Given the description of an element on the screen output the (x, y) to click on. 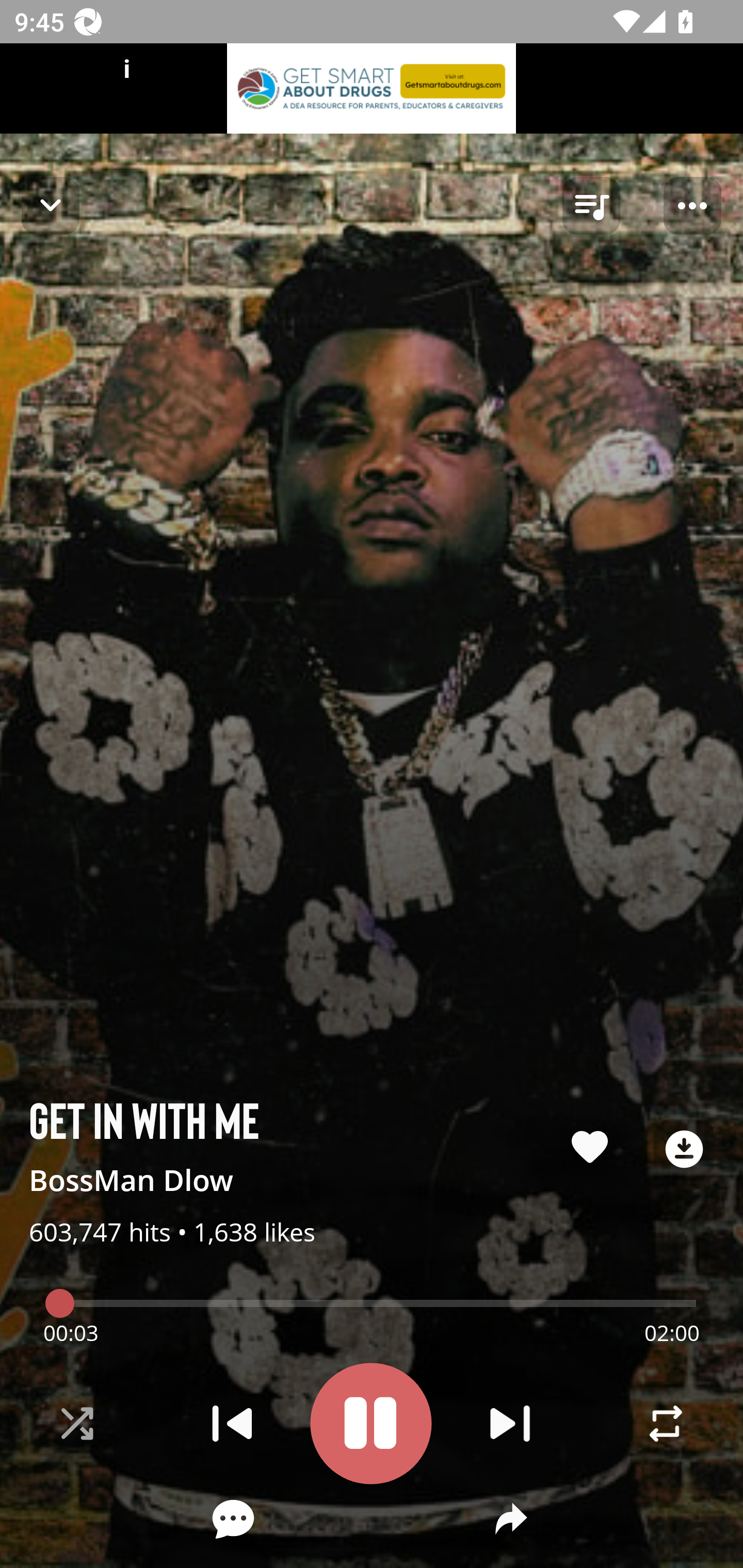
Navigate up (50, 205)
queue (590, 206)
Player options (692, 206)
